Given the description of an element on the screen output the (x, y) to click on. 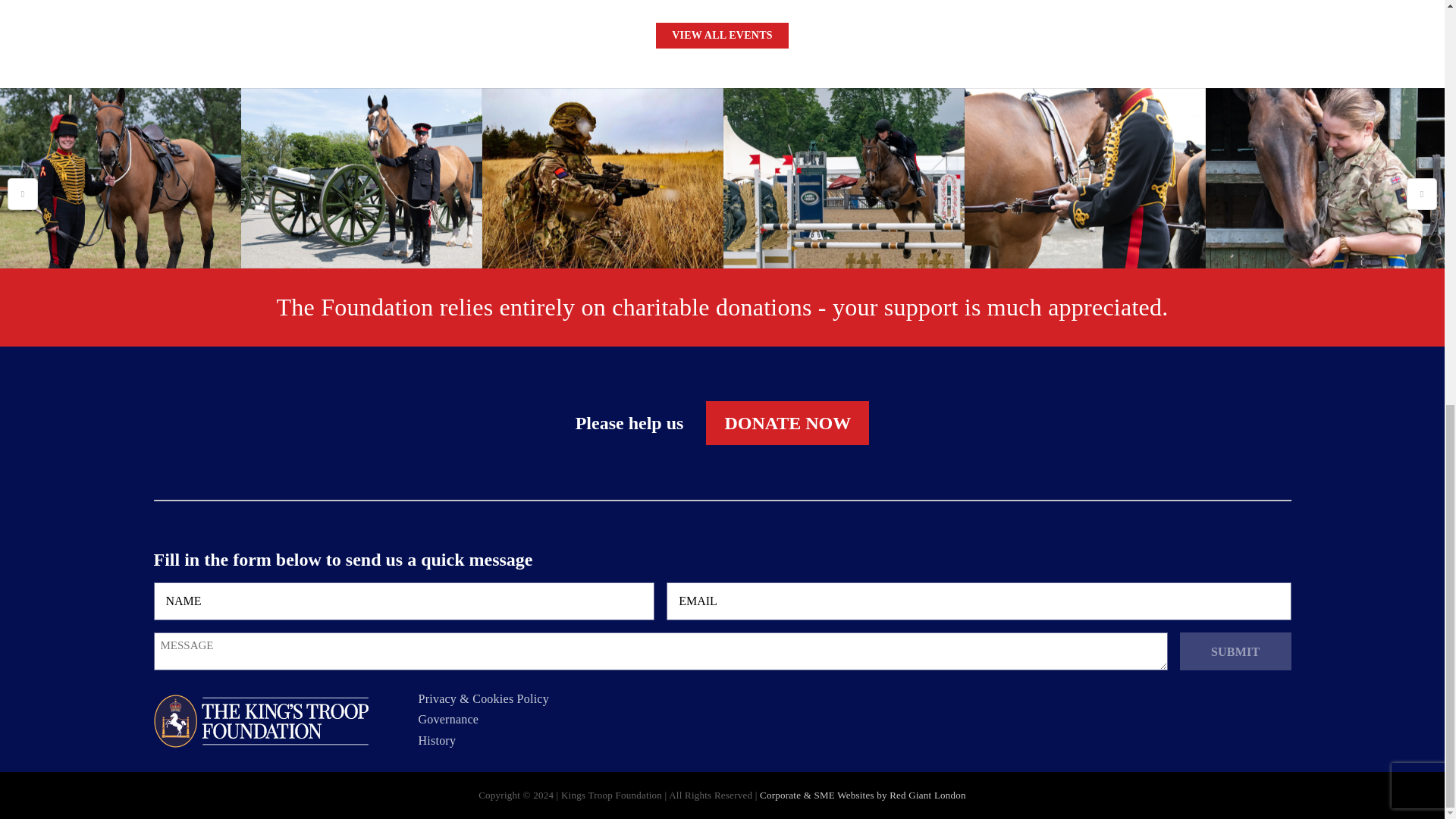
VIEW ALL EVENTS (722, 35)
Events (722, 35)
Submit (1235, 651)
